Given the description of an element on the screen output the (x, y) to click on. 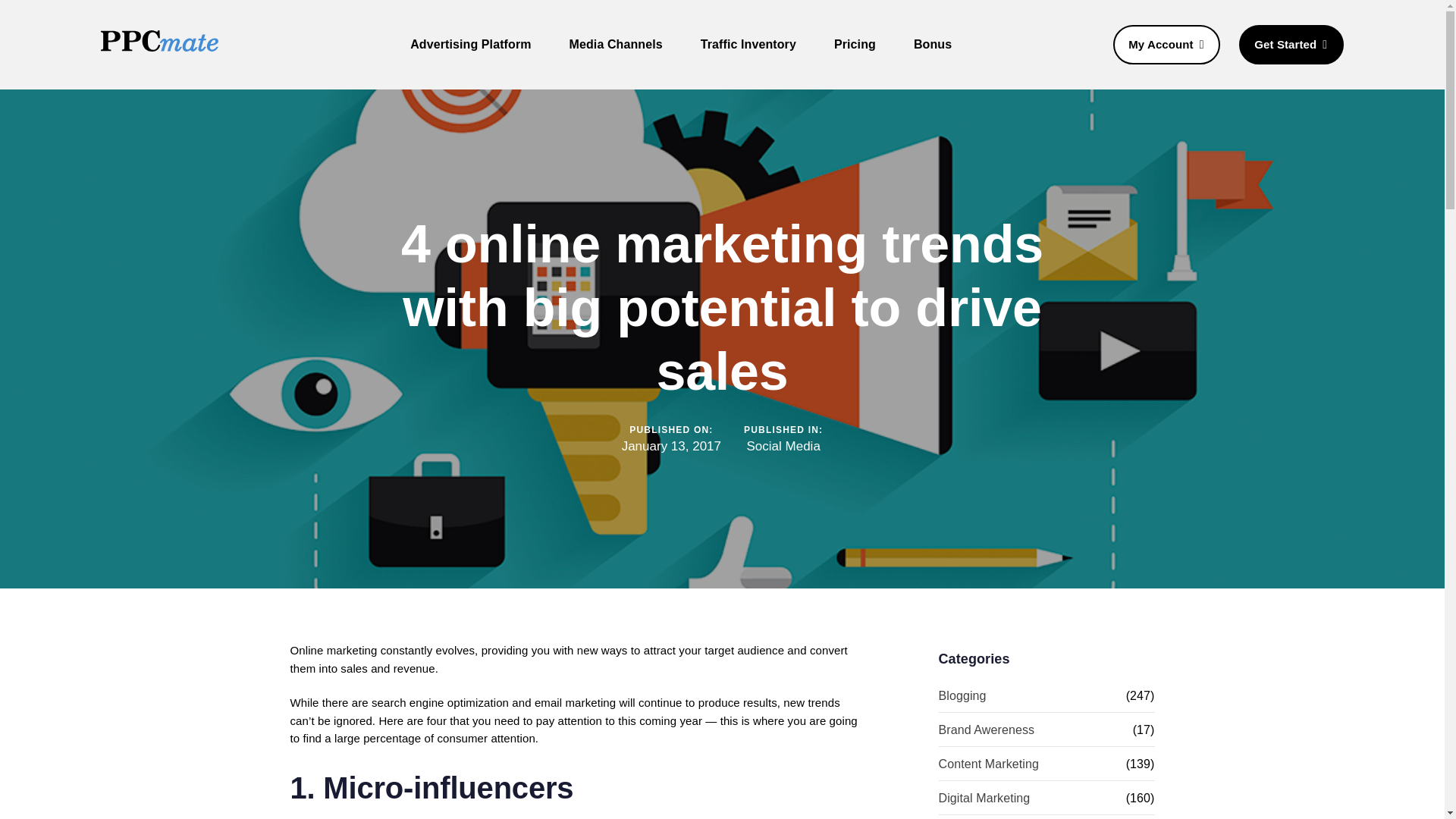
Traffic Inventory (748, 44)
Social Media (783, 446)
Get Started (1291, 45)
January 13, 2017 (670, 446)
My Account (1166, 45)
Media Channels (615, 44)
Pricing (855, 44)
Brand Awereness (1035, 729)
Blogging (1032, 695)
Content Marketing (1032, 764)
Advertising Platform (470, 44)
